Given the description of an element on the screen output the (x, y) to click on. 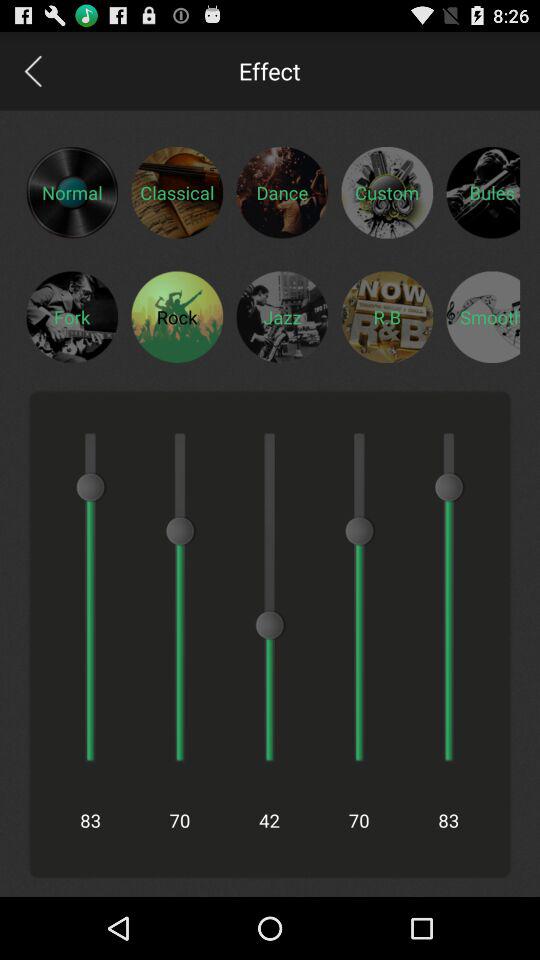
open folk music selection (72, 316)
